Given the description of an element on the screen output the (x, y) to click on. 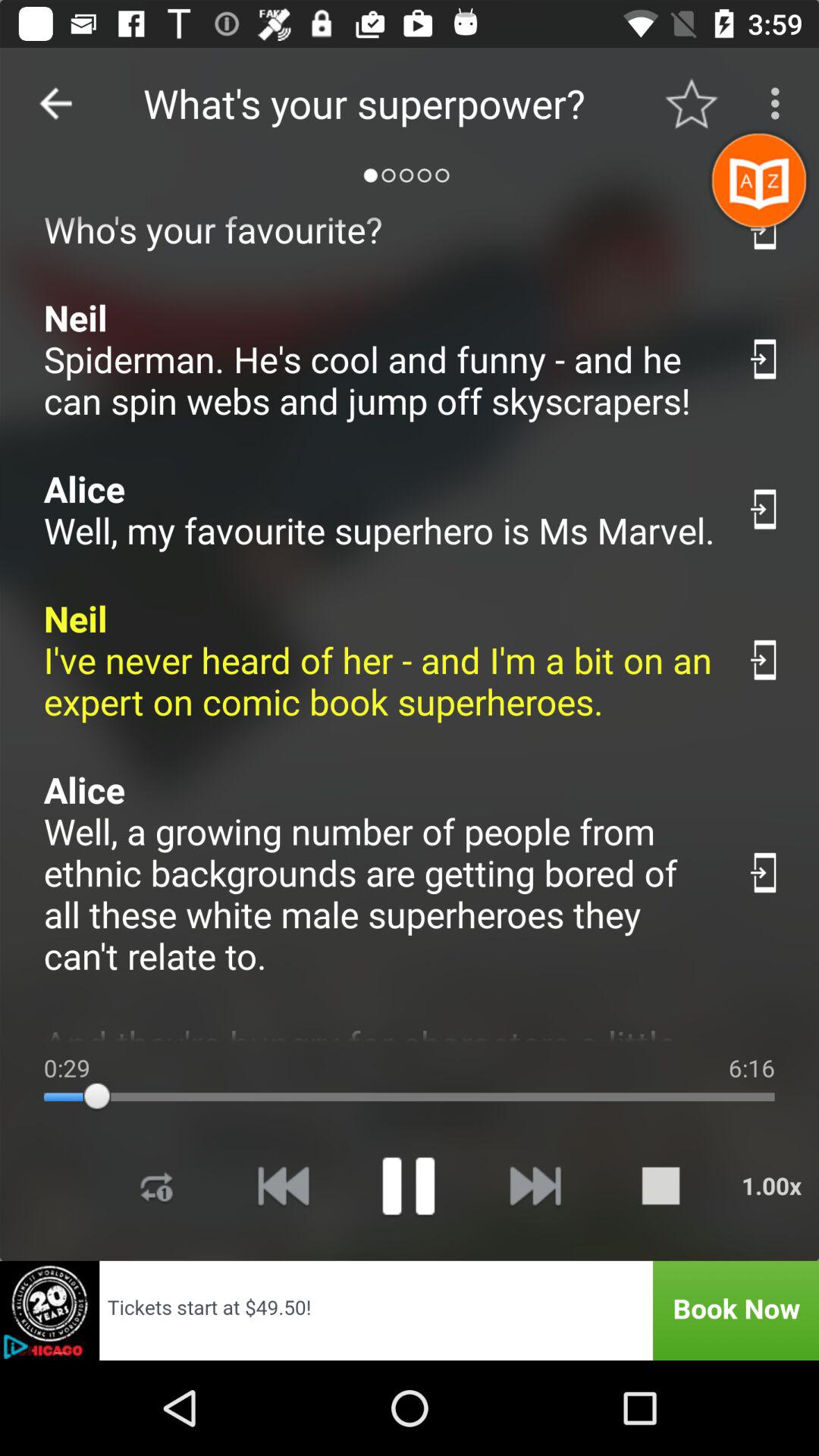
go to previous (55, 103)
